Given the description of an element on the screen output the (x, y) to click on. 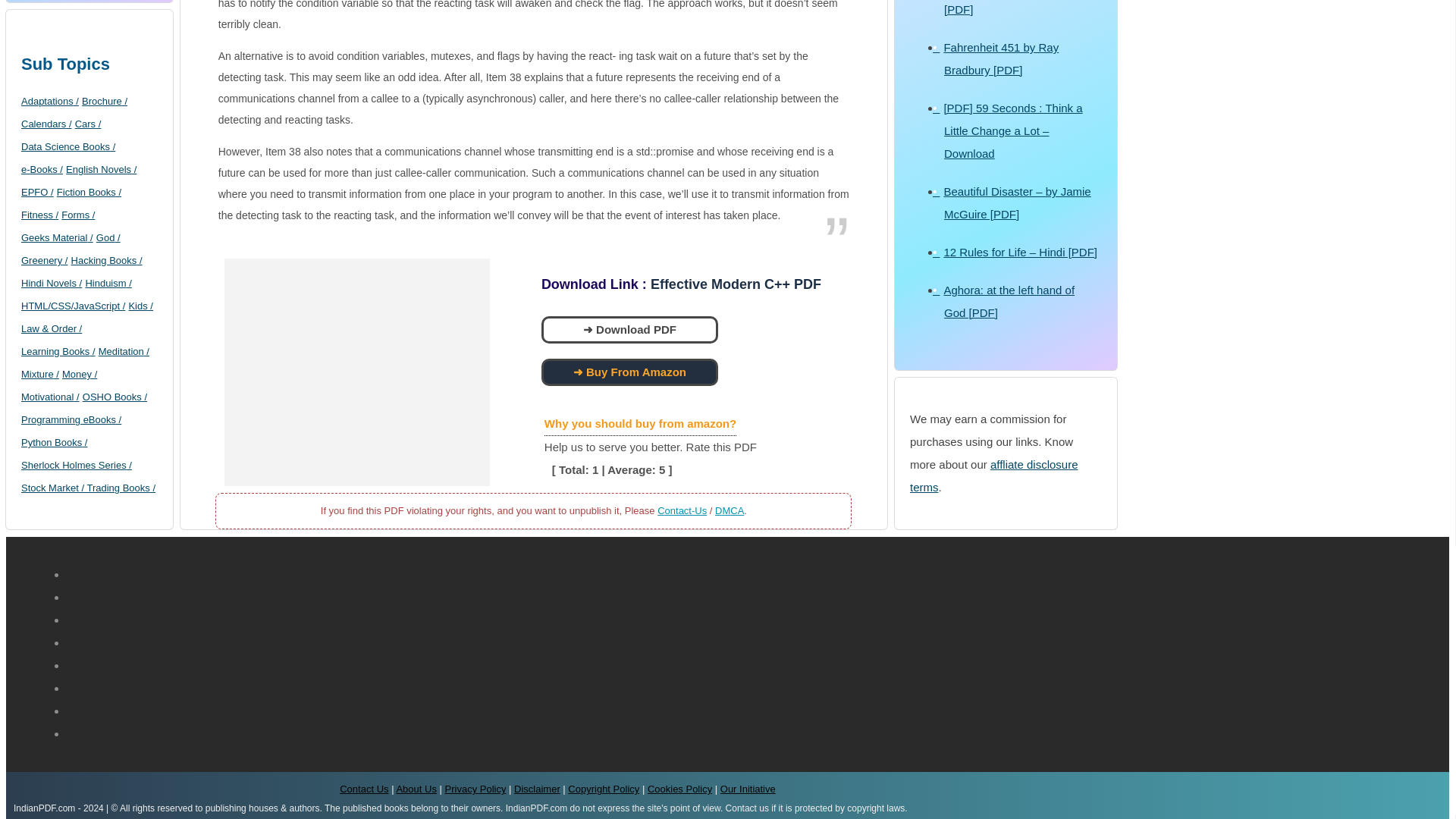
Download PDF (625, 328)
Download PDF (629, 329)
Buy From Amazon (629, 371)
Contact-Us (682, 510)
DMCA (729, 510)
Buy From Amazon (625, 371)
